Given the description of an element on the screen output the (x, y) to click on. 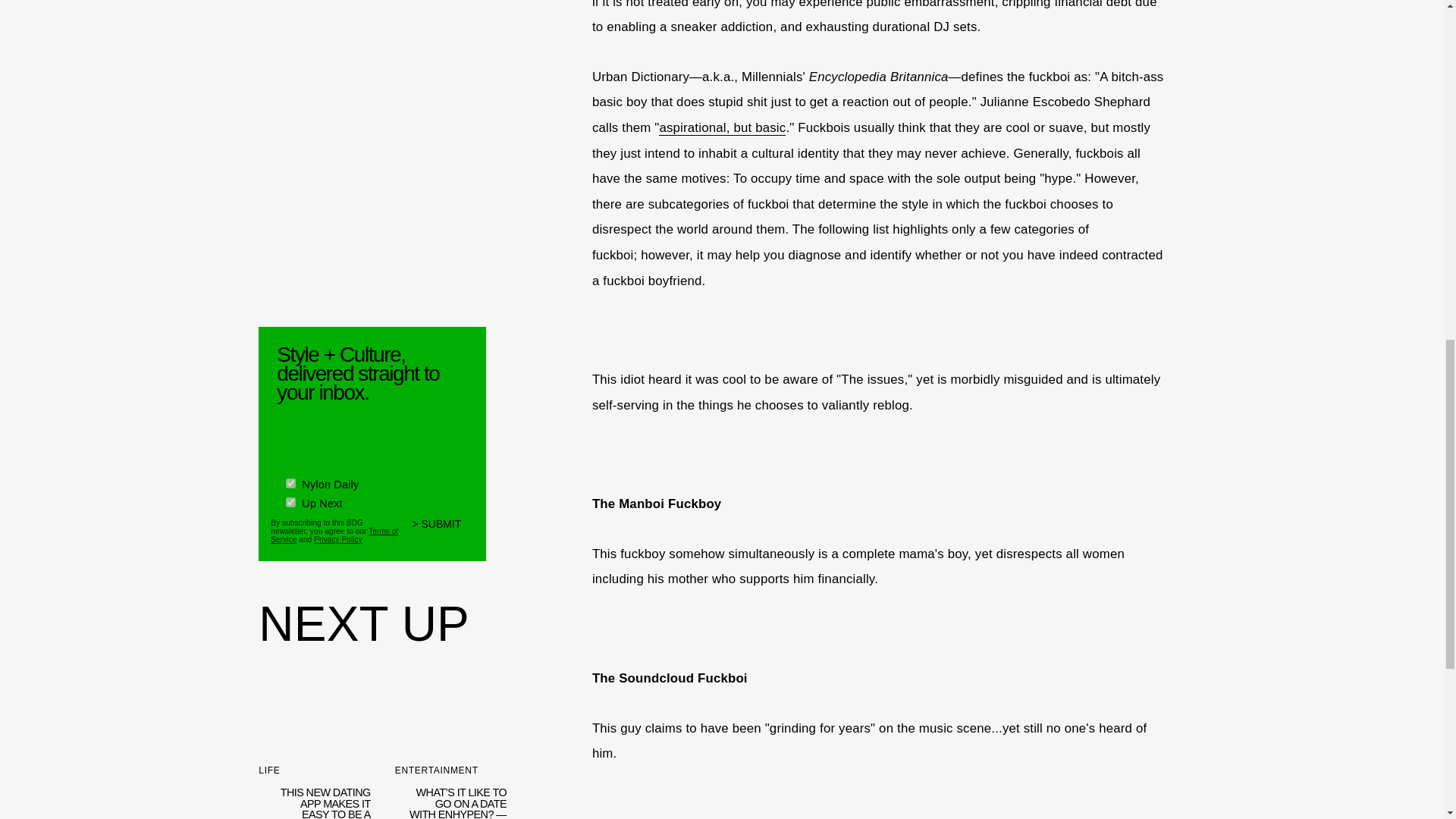
aspirational, but basic (722, 127)
Terms of Service (333, 530)
SUBMIT (443, 526)
Privacy Policy (338, 536)
